Given the description of an element on the screen output the (x, y) to click on. 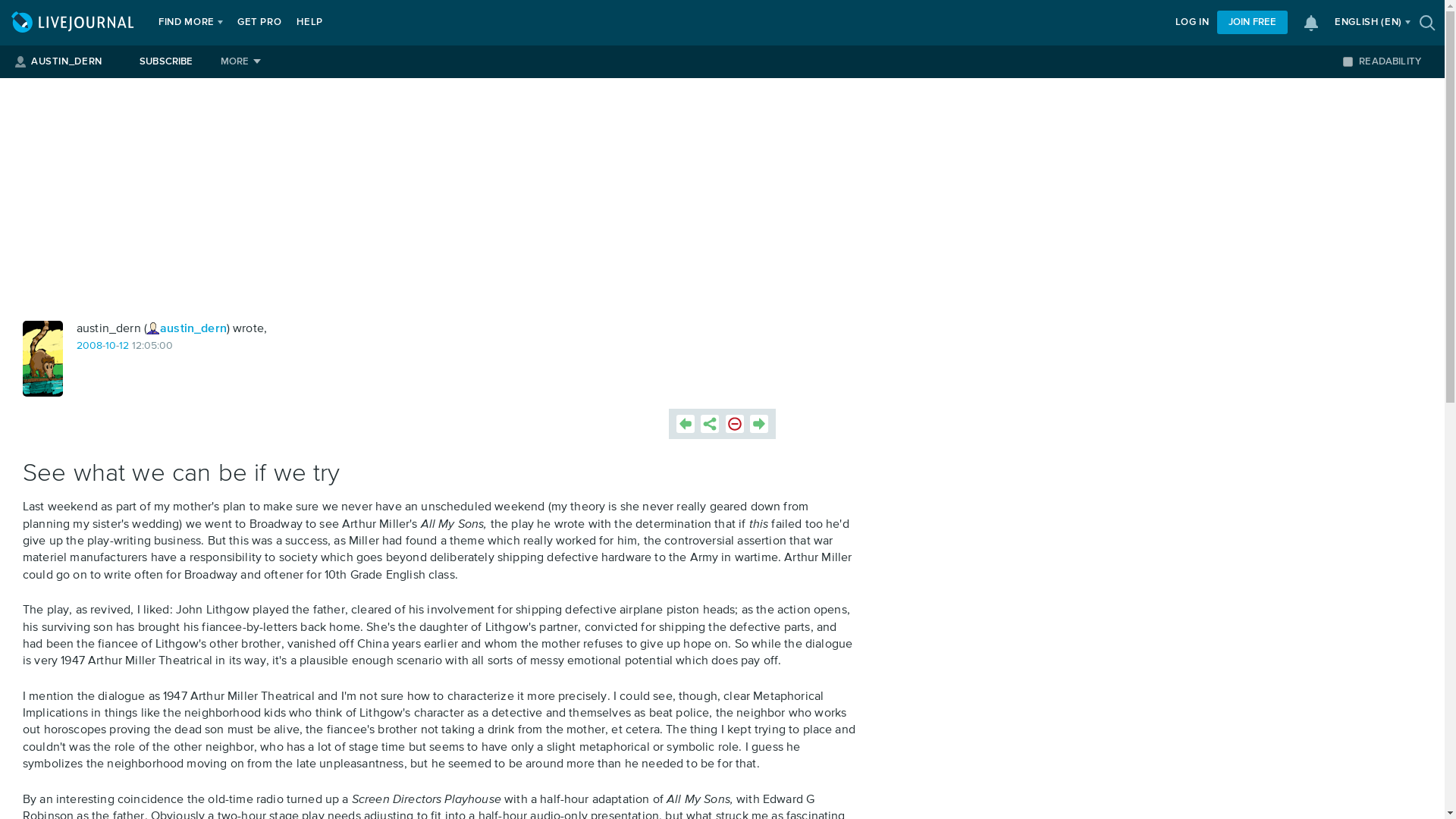
JOIN FREE (1252, 22)
GET PRO (259, 22)
LIVEJOURNAL (73, 22)
FIND MORE (186, 22)
HELP (309, 22)
MORE (240, 61)
SUBSCRIBE (166, 61)
Previous (685, 423)
on (1347, 61)
LOG IN (1192, 22)
